Given the description of an element on the screen output the (x, y) to click on. 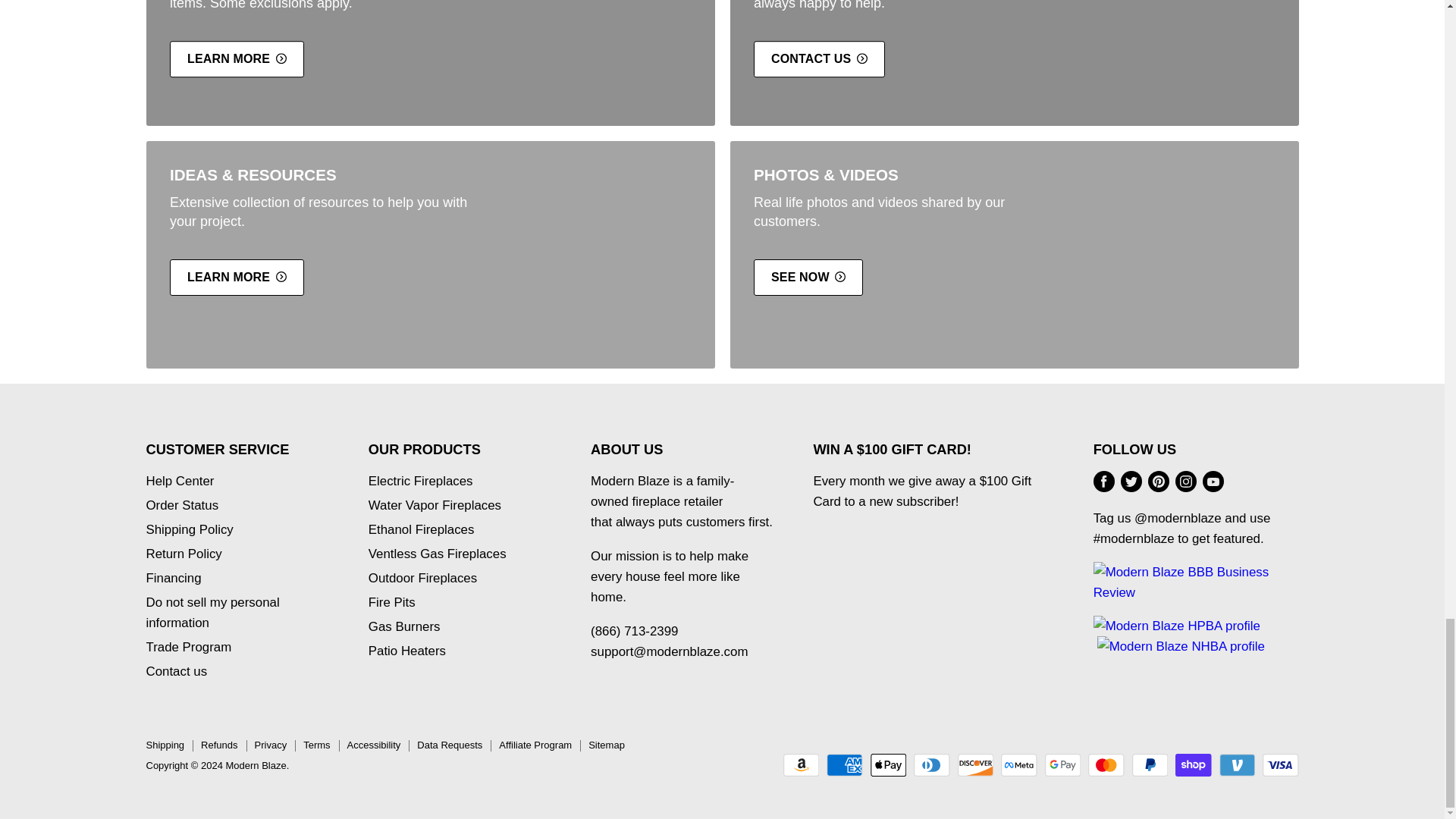
Facebook (1104, 481)
YouTube (1213, 481)
Twitter (1131, 481)
Instagram (1185, 481)
Pinterest (1158, 481)
